Given the description of an element on the screen output the (x, y) to click on. 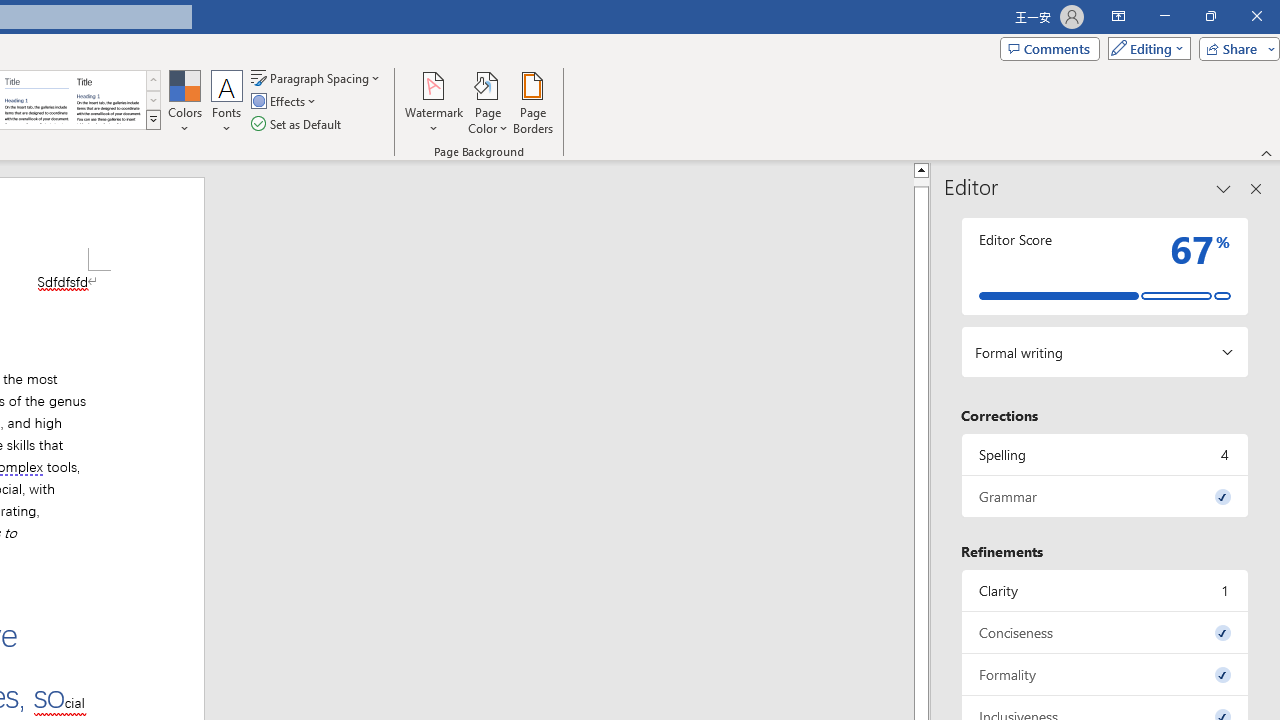
Spelling, 4 issues. Press space or enter to review items. (1105, 454)
